Given the description of an element on the screen output the (x, y) to click on. 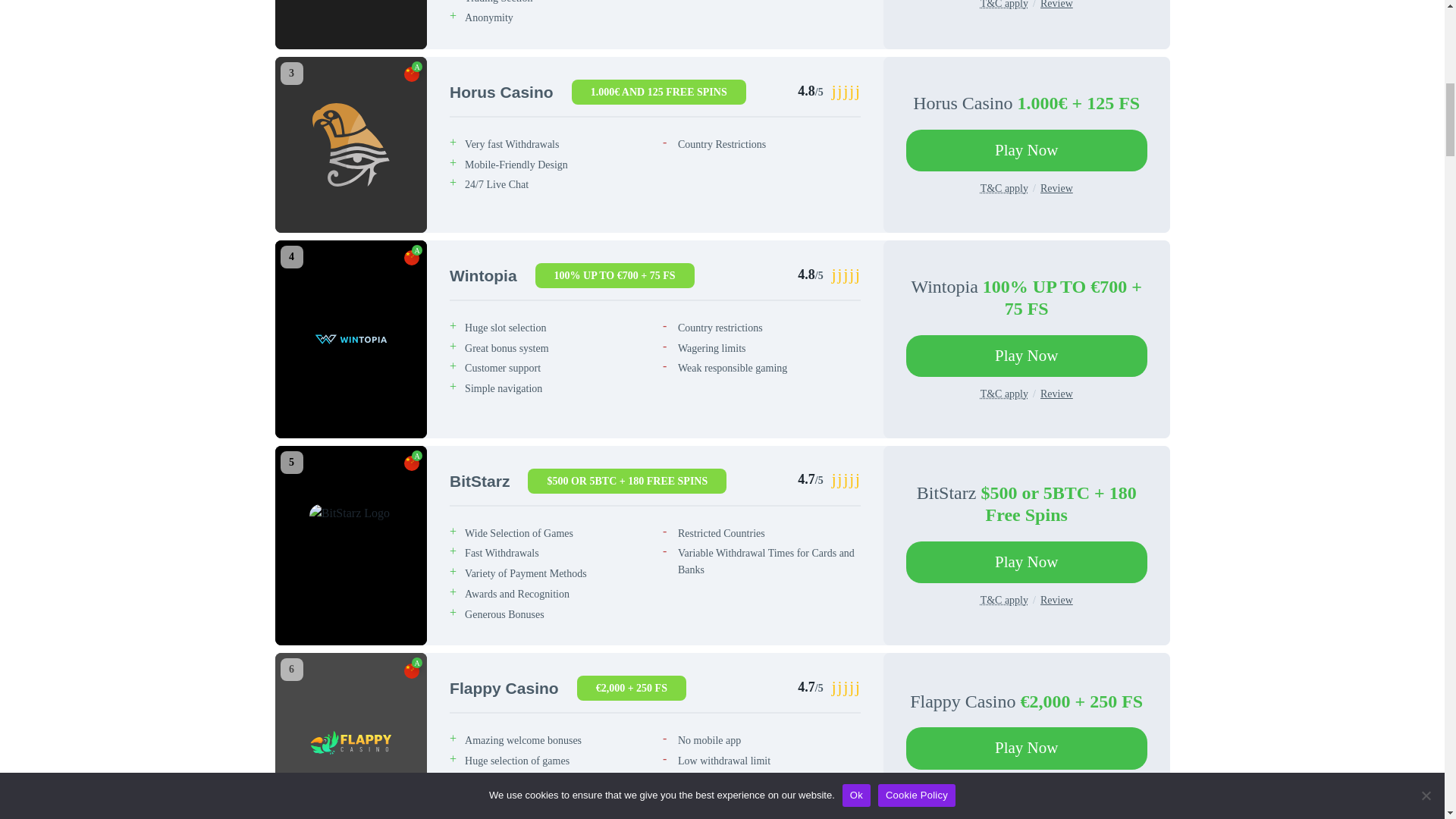
Review (1057, 4)
